Given the description of an element on the screen output the (x, y) to click on. 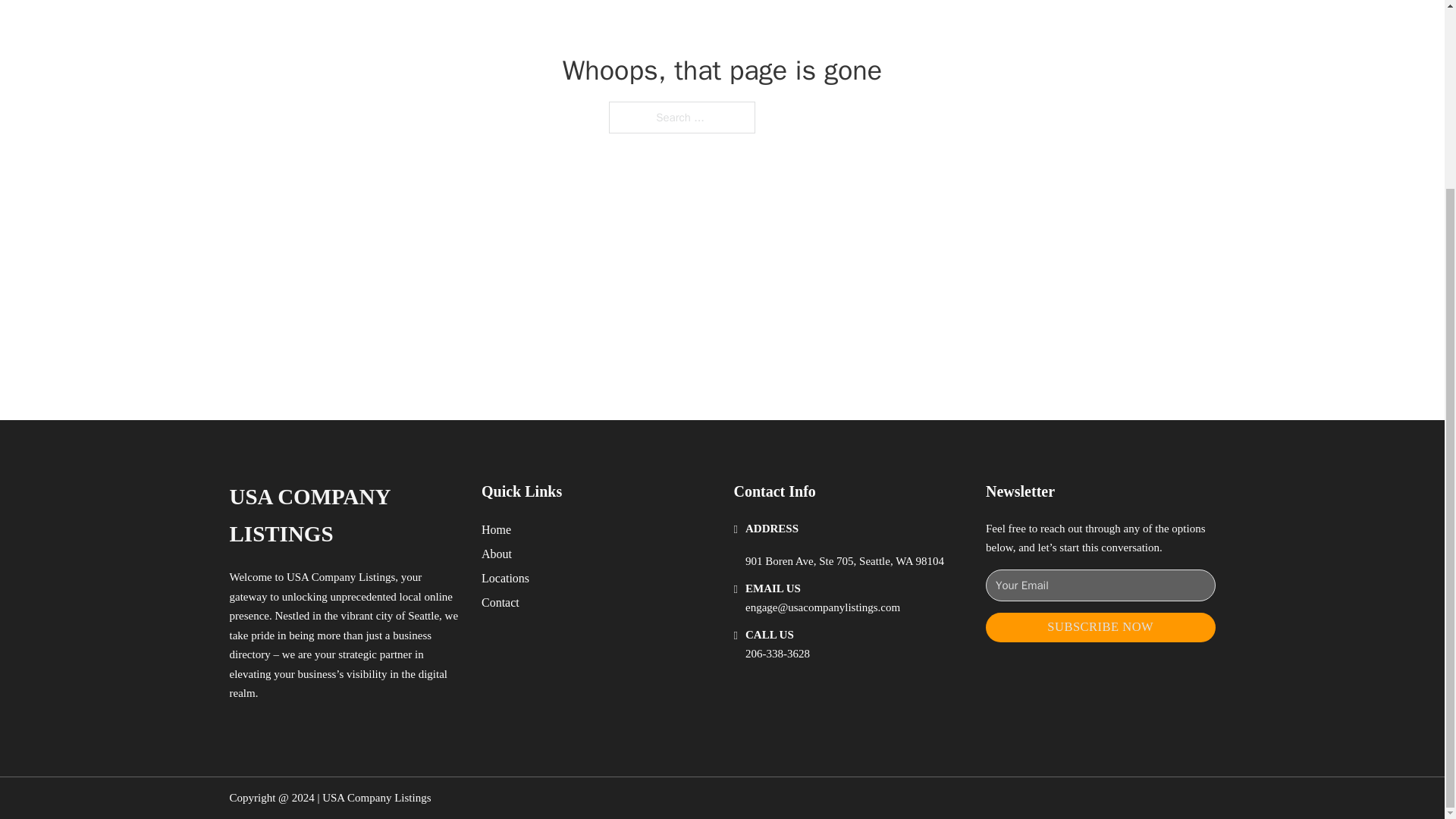
206-338-3628 (777, 653)
SUBSCRIBE NOW (1100, 627)
USA COMPANY LISTINGS (343, 515)
About (496, 553)
Locations (505, 578)
Home (496, 529)
Contact (500, 602)
